Given the description of an element on the screen output the (x, y) to click on. 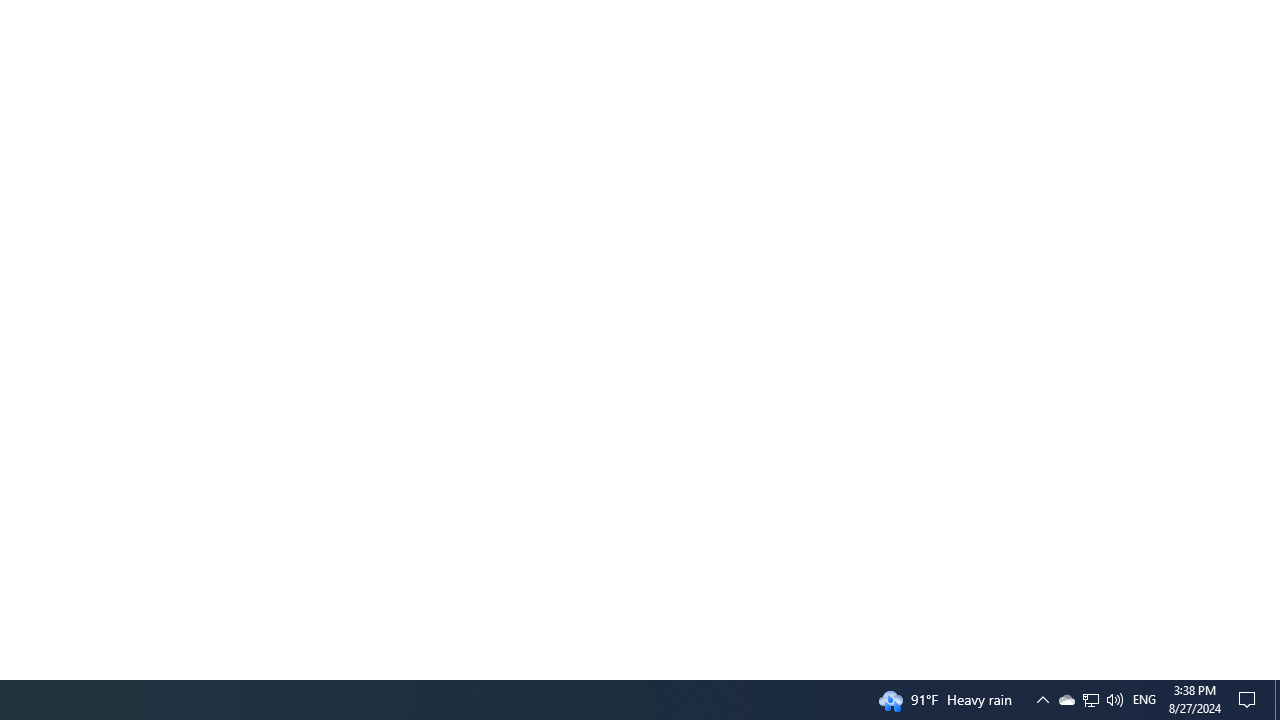
Tray Input Indicator - English (United States) (1091, 699)
User Promoted Notification Area (1144, 699)
Q2790: 100% (1090, 699)
Action Center, No new notifications (1114, 699)
Notification Chevron (1250, 699)
Show desktop (1066, 699)
